Given the description of an element on the screen output the (x, y) to click on. 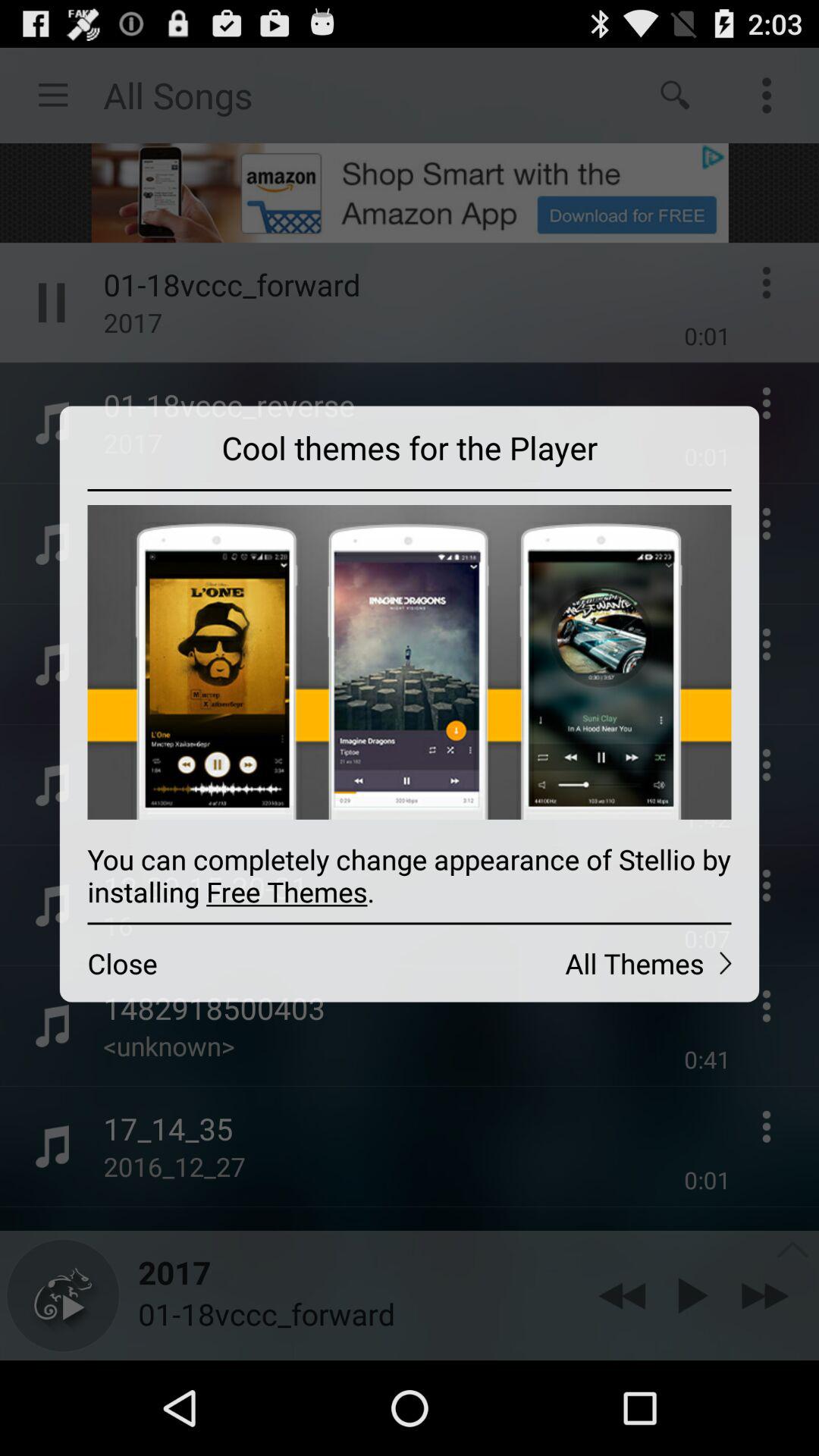
open the all themes on the right (584, 963)
